Given the description of an element on the screen output the (x, y) to click on. 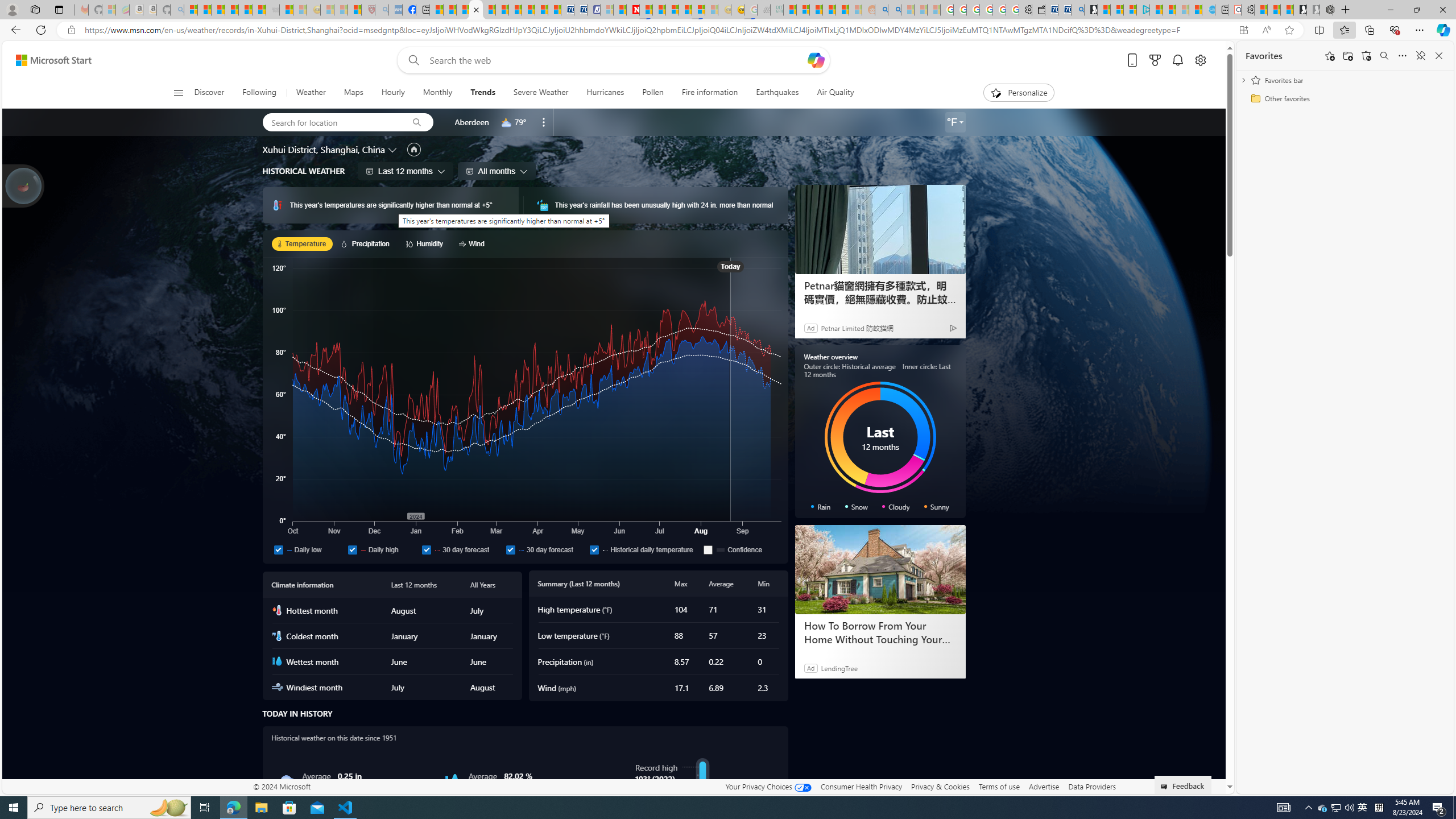
Hurricanes (605, 92)
Change location (392, 149)
Aberdeen (471, 121)
